Given the description of an element on the screen output the (x, y) to click on. 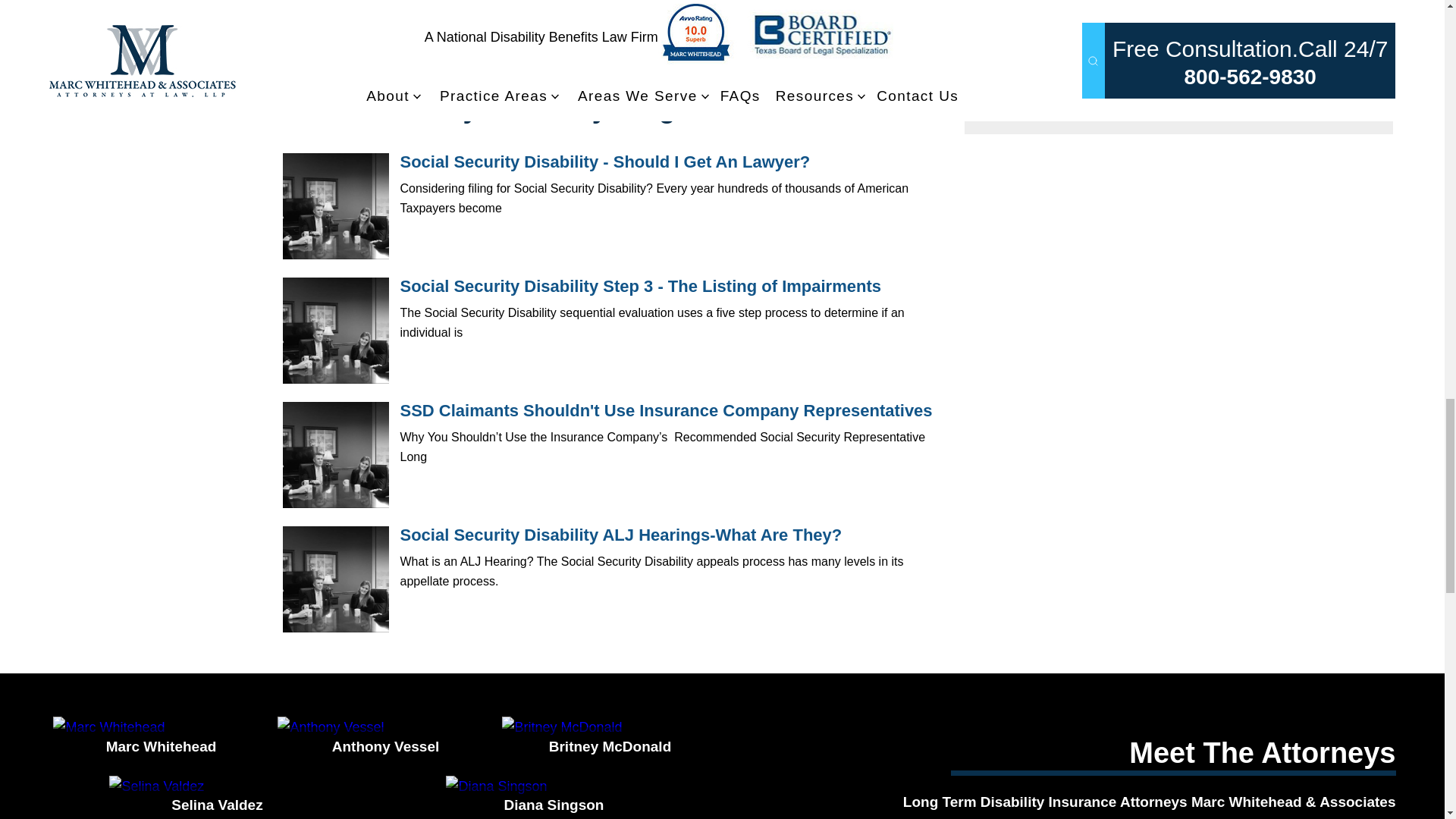
Social Security Disability ALJ Hearings-What Are They? (621, 534)
Social Security Disability - Should I Get An Lawyer? (335, 206)
Social Security Disability ALJ Hearings-What Are They? (335, 579)
Social Security Disability - Should I Get An Lawyer? (605, 161)
